Given the description of an element on the screen output the (x, y) to click on. 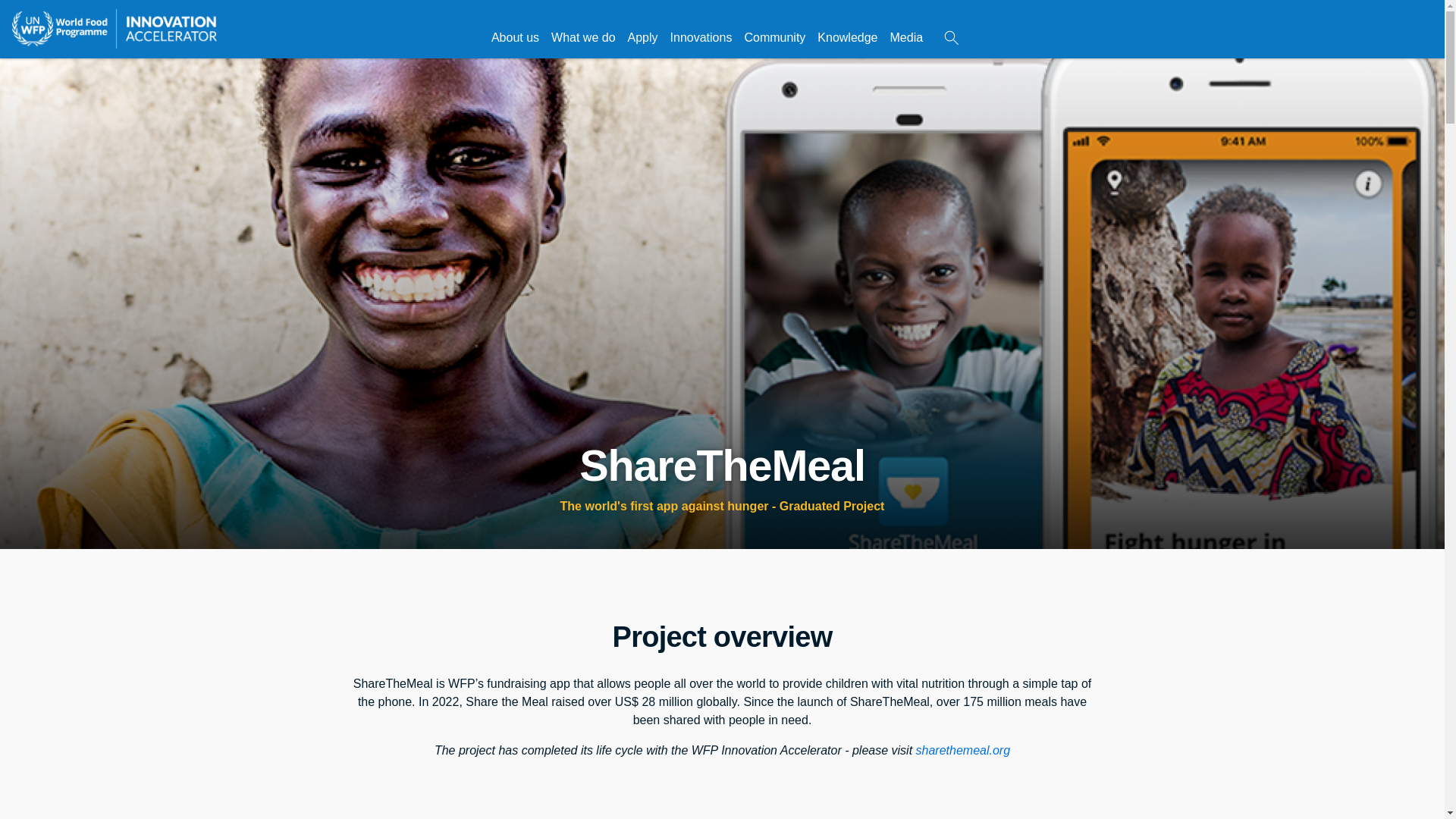
Apply (642, 37)
Innovations supported by the WFP Innovation Accelerator (700, 37)
Knowledge (846, 37)
What we do (582, 37)
sharethemeal.org (962, 749)
Community (774, 37)
Innovations (700, 37)
Media (906, 37)
About us (514, 37)
Apply to the WFP Innovation Accelerator (642, 37)
Search (951, 37)
WFP Field Innovation Hubs (774, 37)
News, blogs and updates (906, 37)
About the WFP Innovation Accelerator (514, 37)
